Given the description of an element on the screen output the (x, y) to click on. 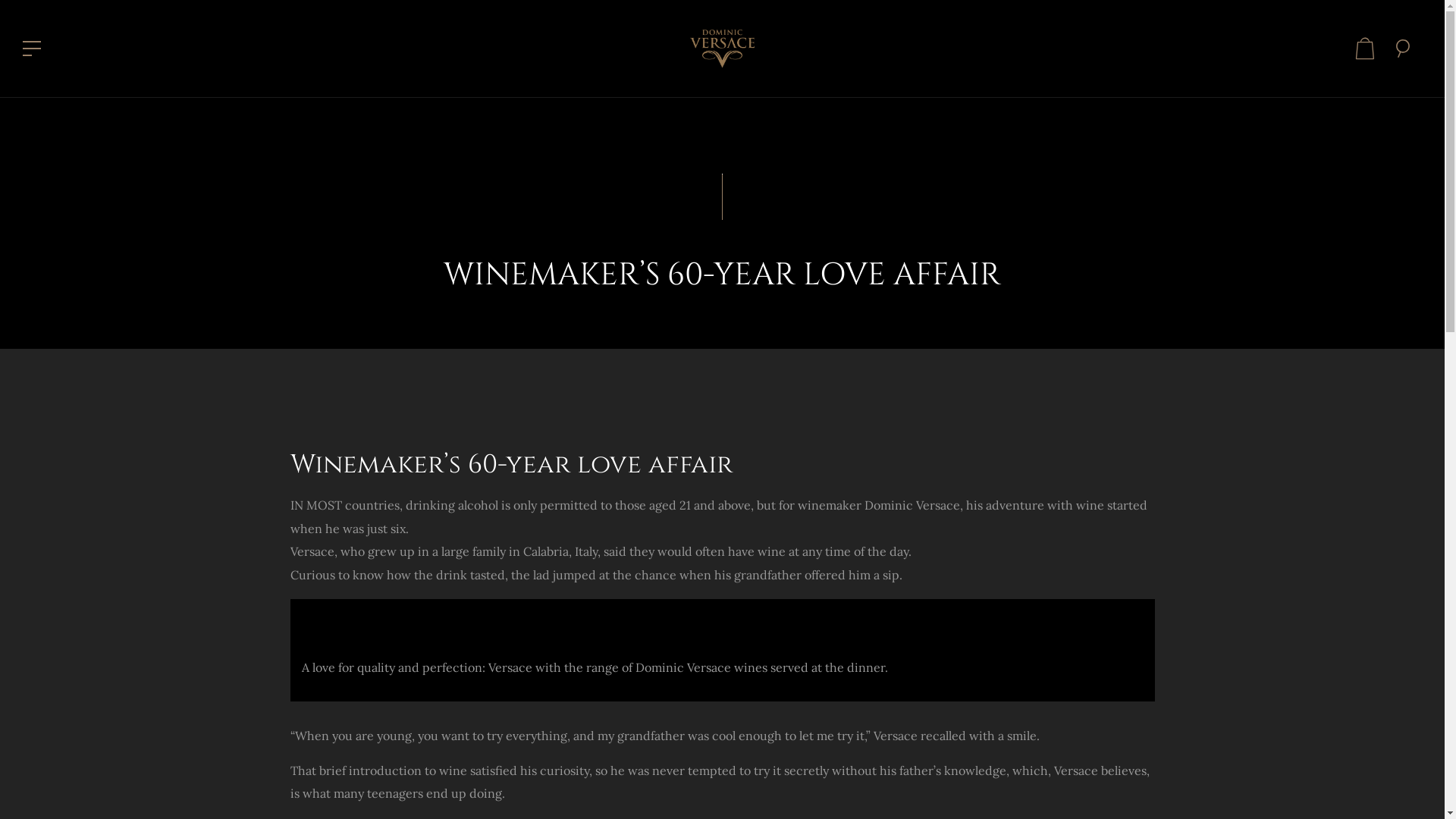
View your shopping cart Element type: hover (1364, 48)
Dominic Versace Wines Element type: hover (722, 46)
